Given the description of an element on the screen output the (x, y) to click on. 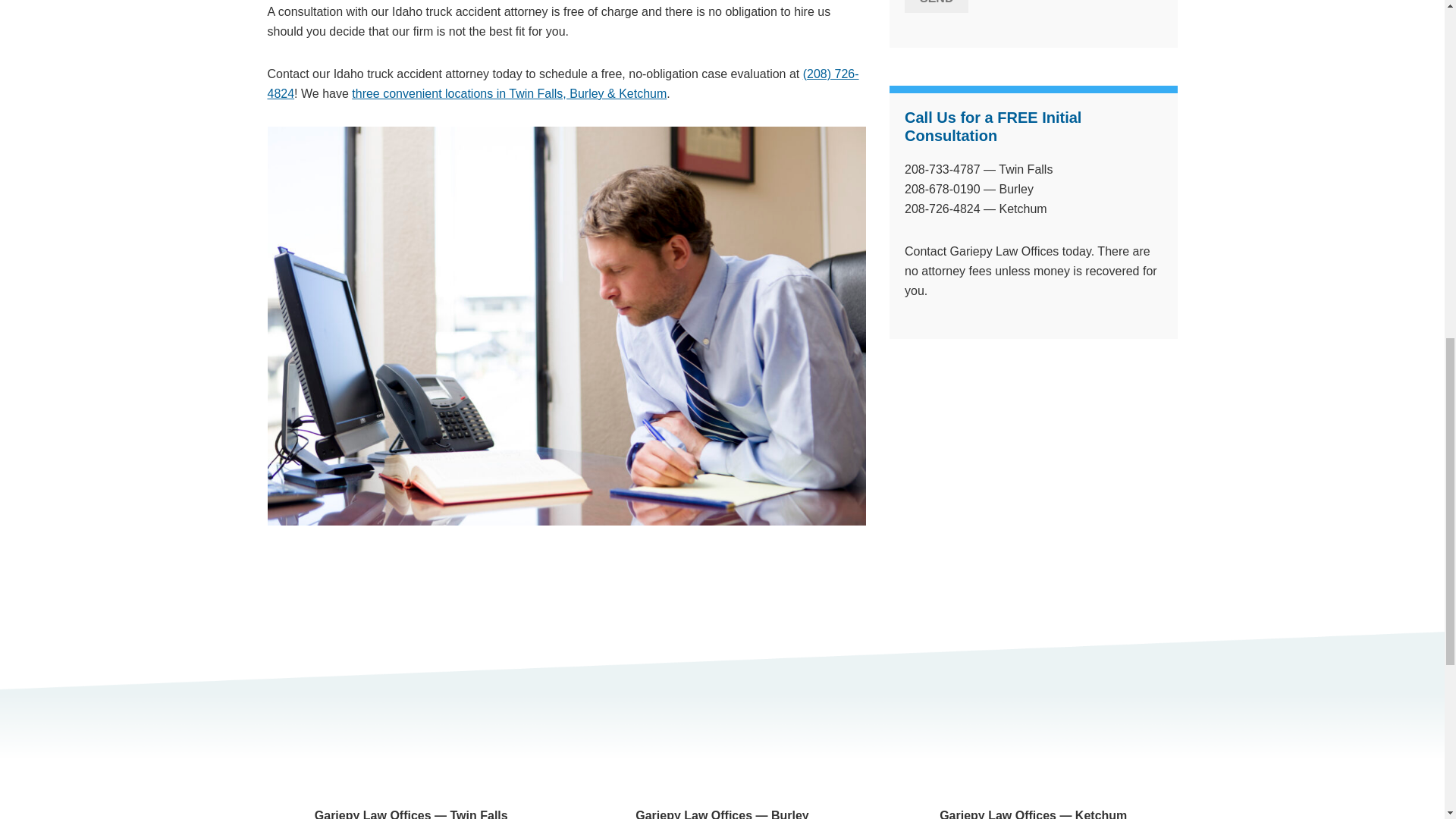
Send (936, 6)
208-733-4787 (941, 169)
Send (936, 6)
208-678-0190 (941, 188)
208-726-4824 (941, 208)
